Given the description of an element on the screen output the (x, y) to click on. 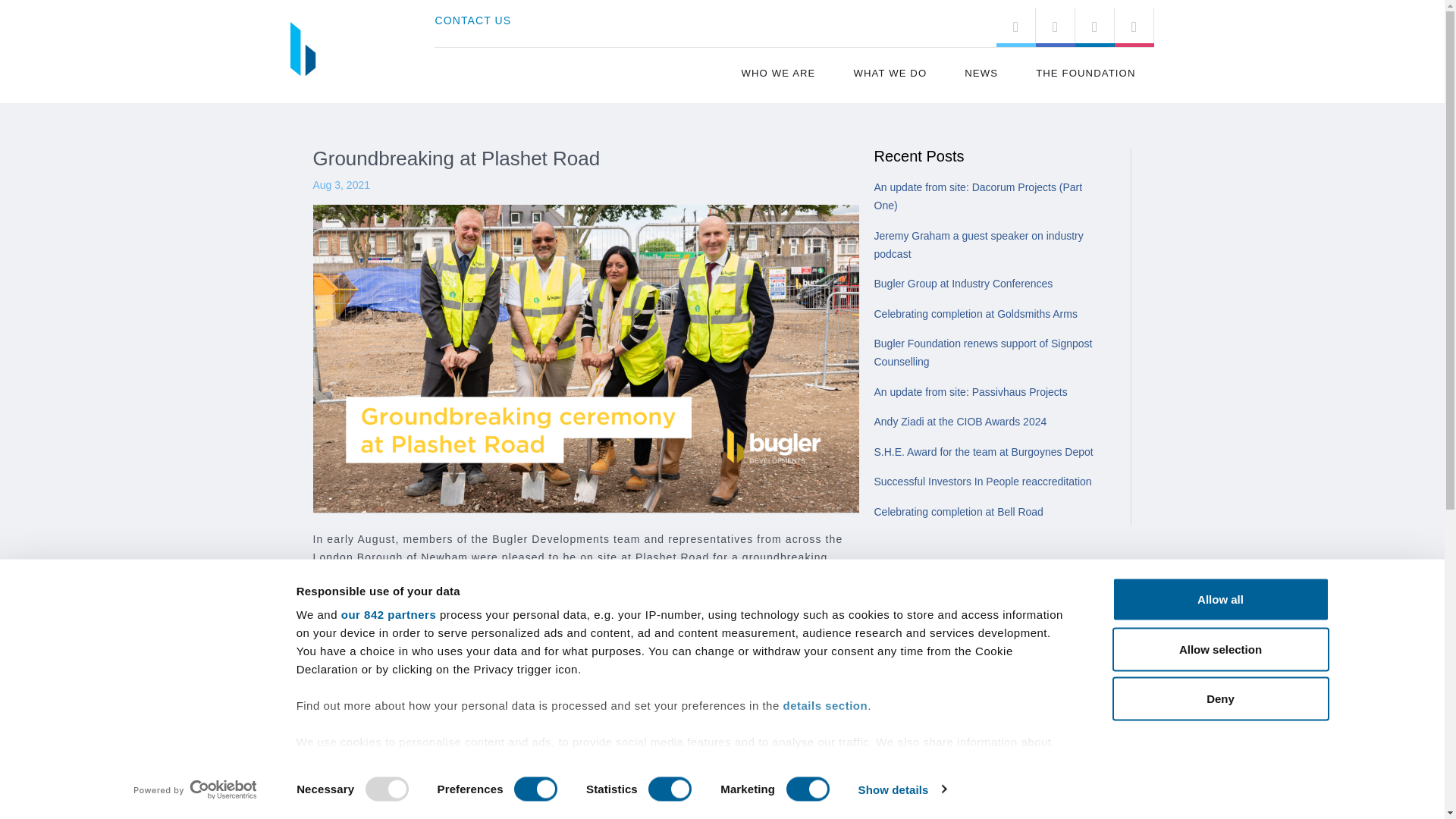
our 842 partners (388, 614)
details section (825, 705)
Show details (900, 789)
